Given the description of an element on the screen output the (x, y) to click on. 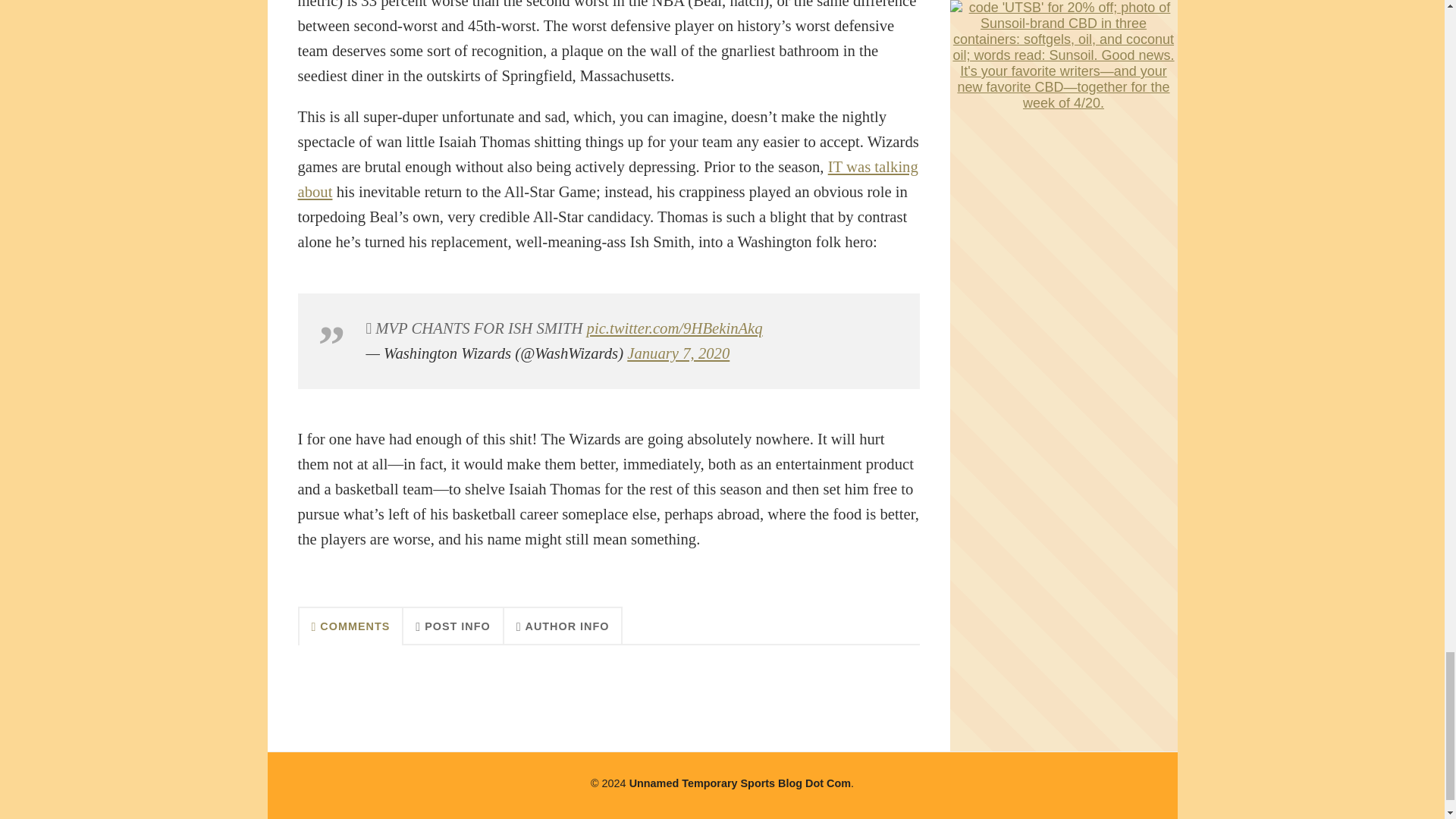
Unnamed Temporary Sports Blog Dot Com (739, 783)
January 7, 2020 (678, 352)
IT was talking about (607, 178)
POST INFO (453, 625)
AUTHOR INFO (563, 625)
COMMENTS (350, 625)
